Given the description of an element on the screen output the (x, y) to click on. 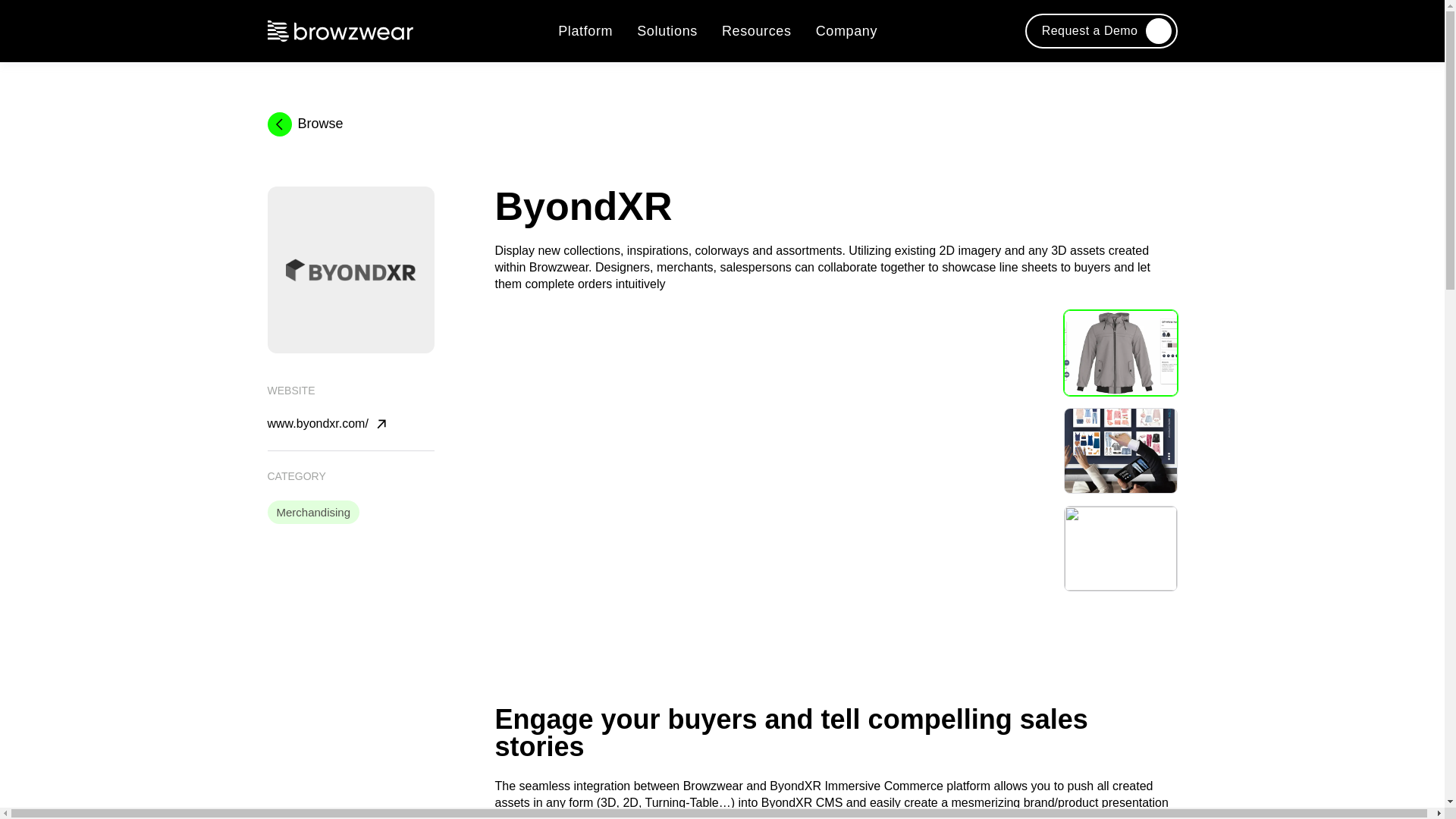
Request a Demo (1101, 31)
Company (846, 30)
Browse (715, 123)
Solutions (667, 30)
Platform (584, 30)
Resources (757, 30)
